Given the description of an element on the screen output the (x, y) to click on. 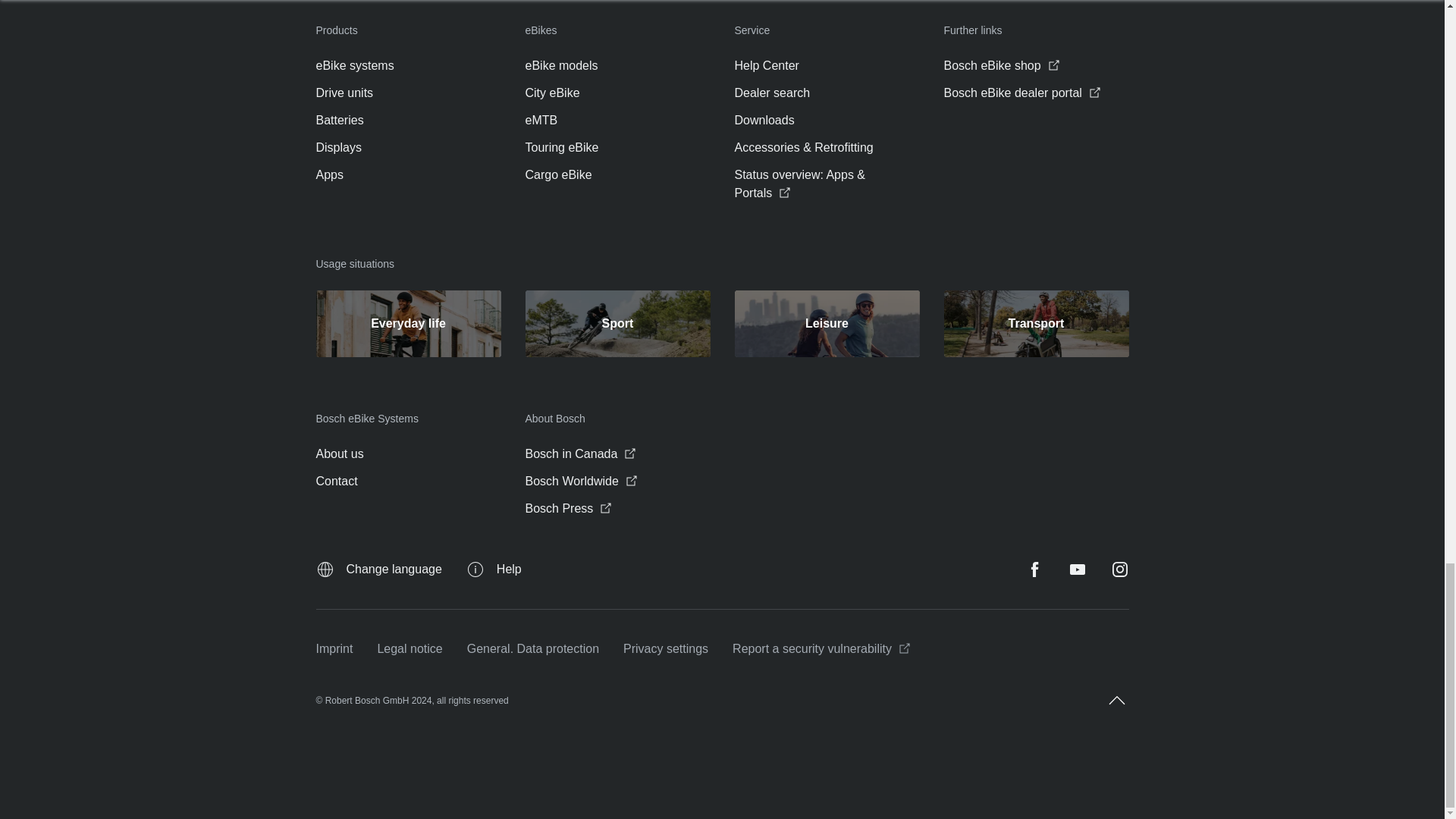
Bosch eBike on Facebook (1034, 569)
Drive units (343, 93)
Instagram (1118, 569)
Apps (328, 175)
Bosch eBike on YouTube (1076, 569)
Batteries (338, 120)
eBike models (560, 65)
Displays (338, 147)
eBike systems (354, 65)
